Given the description of an element on the screen output the (x, y) to click on. 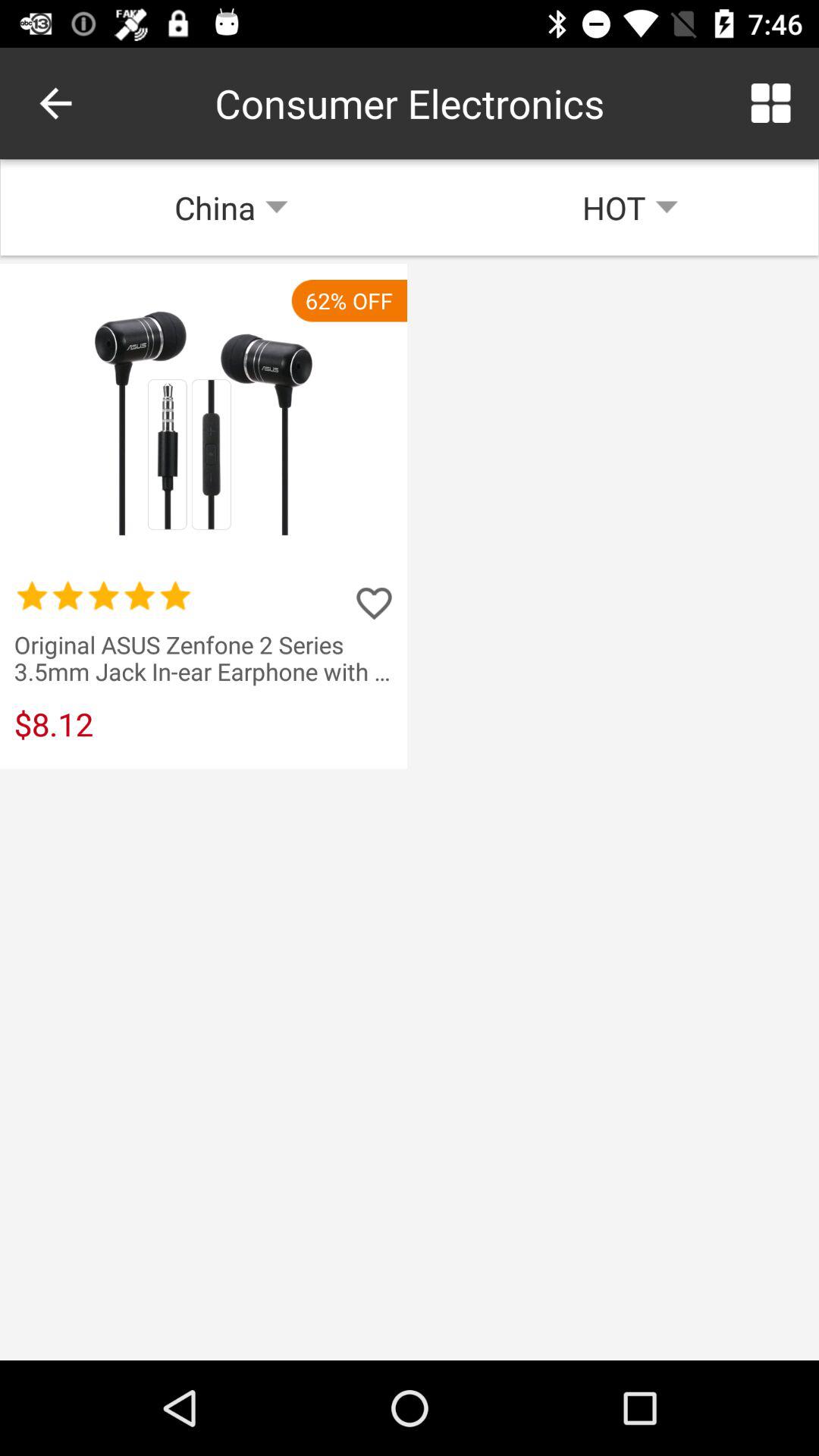
mark it favourite option (374, 603)
